Given the description of an element on the screen output the (x, y) to click on. 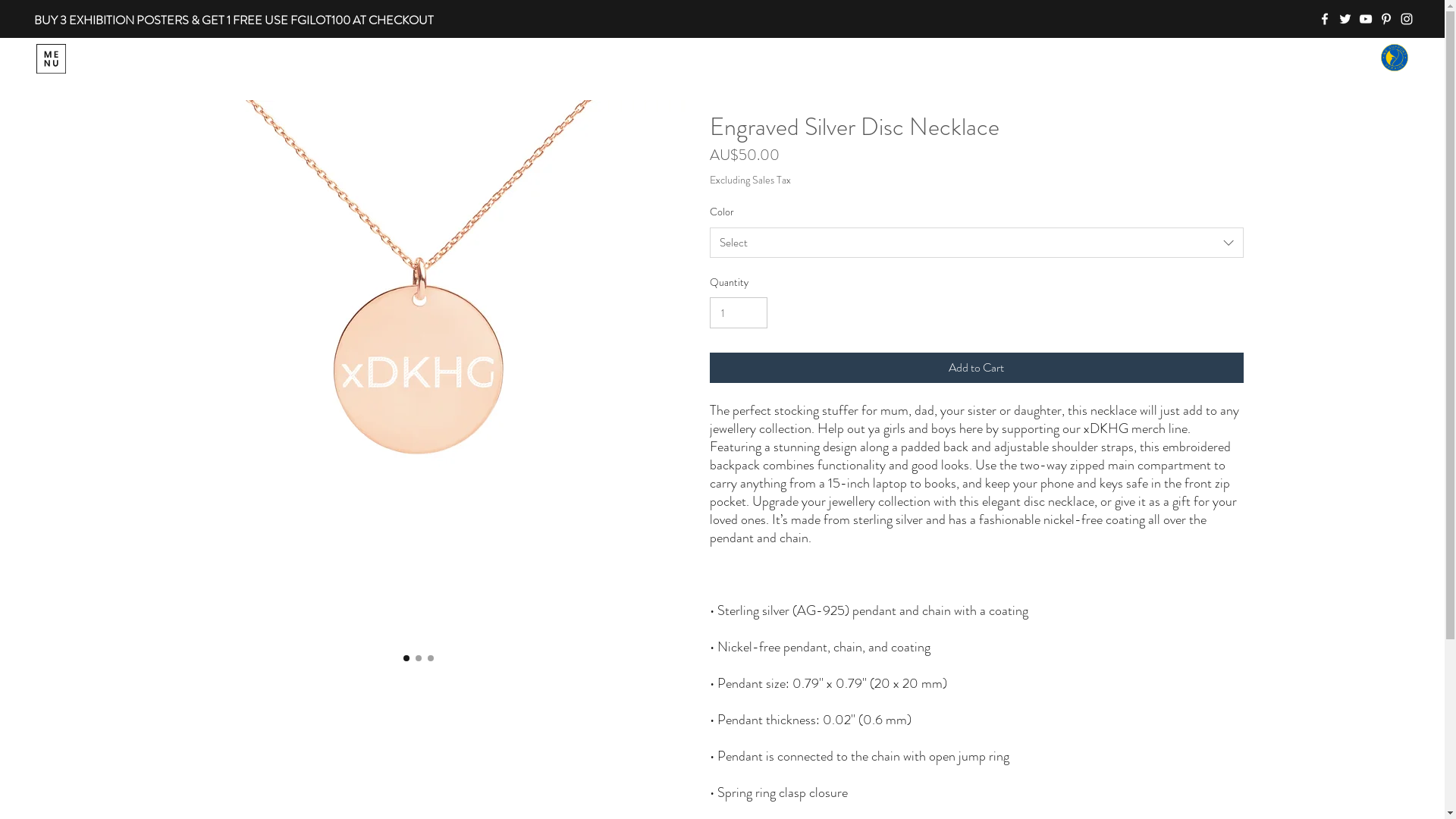
Add to Cart Element type: text (976, 367)
Select Element type: text (976, 242)
